Given the description of an element on the screen output the (x, y) to click on. 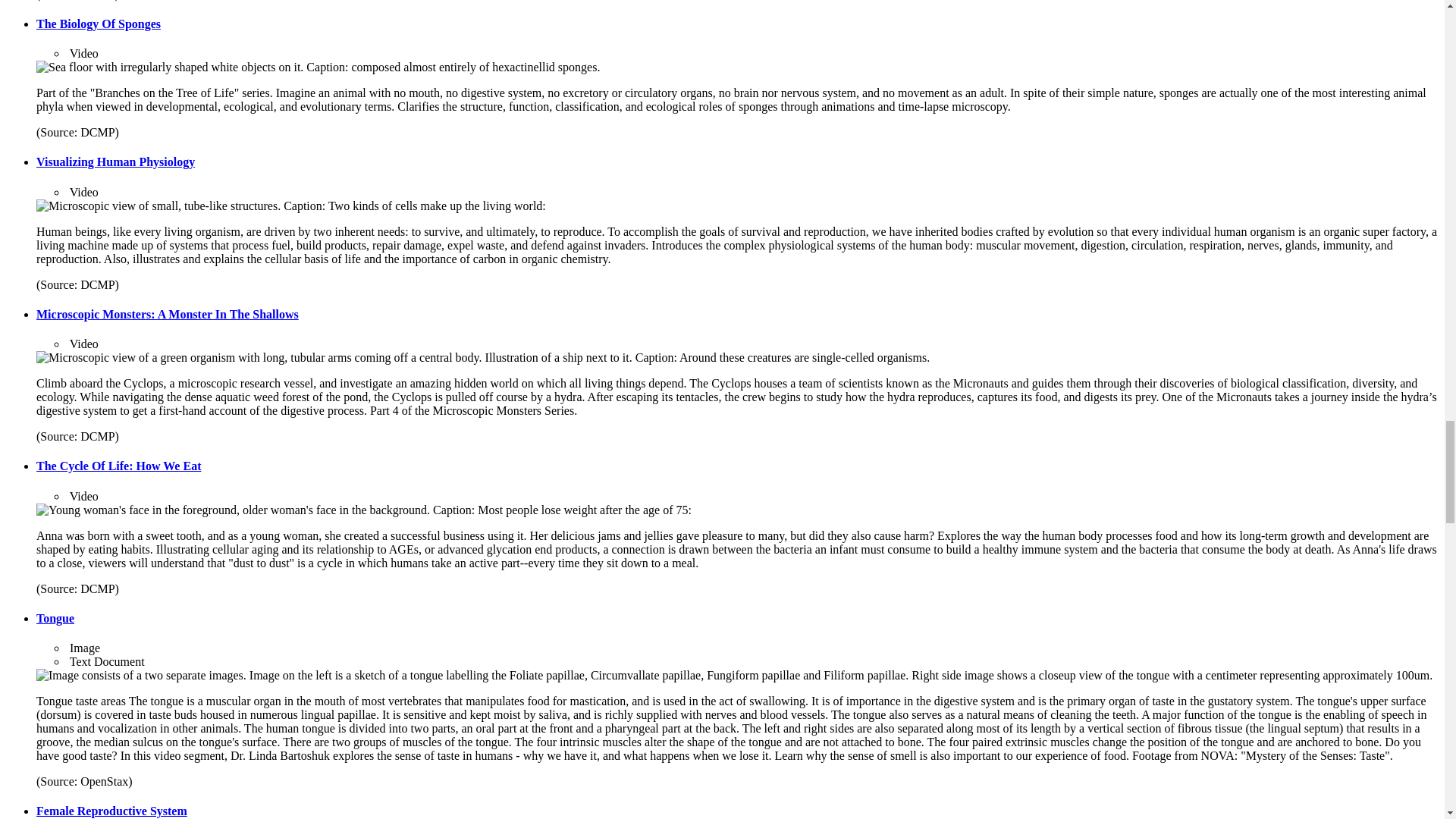
Tongue (55, 617)
Visualizing Human Physiology (115, 161)
Microscopic Monsters: A Monster In The Shallows (167, 314)
The Biology Of Sponges (98, 23)
The Cycle Of Life: How We Eat (118, 465)
Female Reproductive System (111, 810)
